Given the description of an element on the screen output the (x, y) to click on. 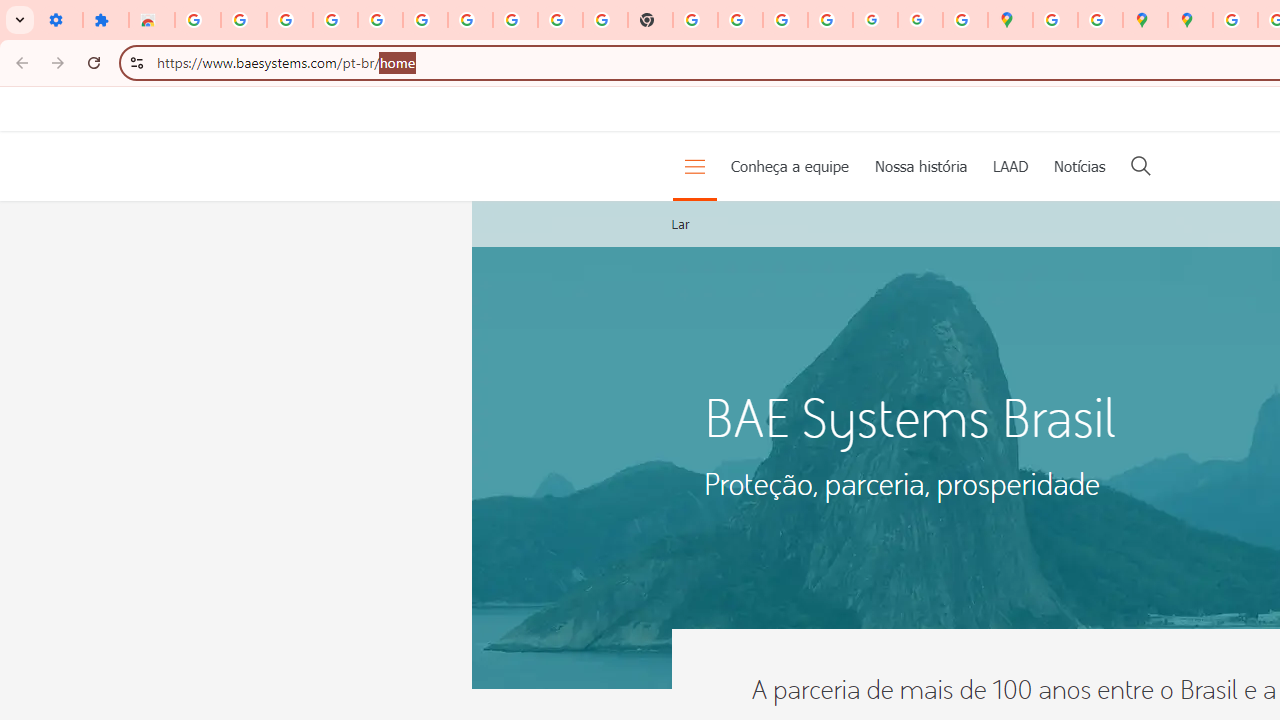
Lar (679, 223)
Settings - On startup (60, 20)
Safety in Our Products - Google Safety Center (1099, 20)
Extensions (106, 20)
Learn how to find your photos - Google Photos Help (335, 20)
Reviews: Helix Fruit Jump Arcade Game (152, 20)
